Given the description of an element on the screen output the (x, y) to click on. 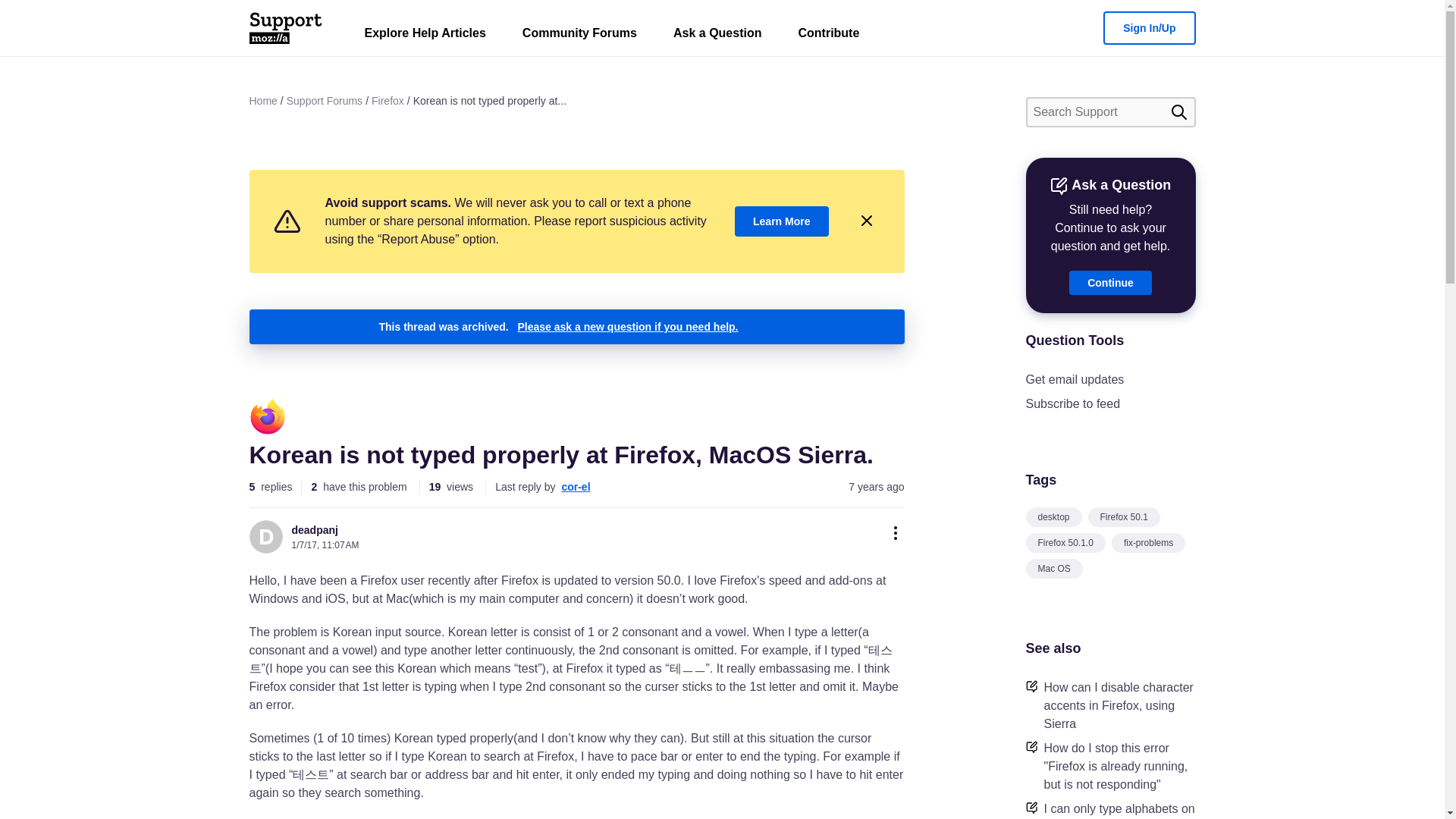
Ask a Question (716, 37)
Search (1178, 111)
Explore Help Articles (424, 37)
Community Forums (579, 37)
